Given the description of an element on the screen output the (x, y) to click on. 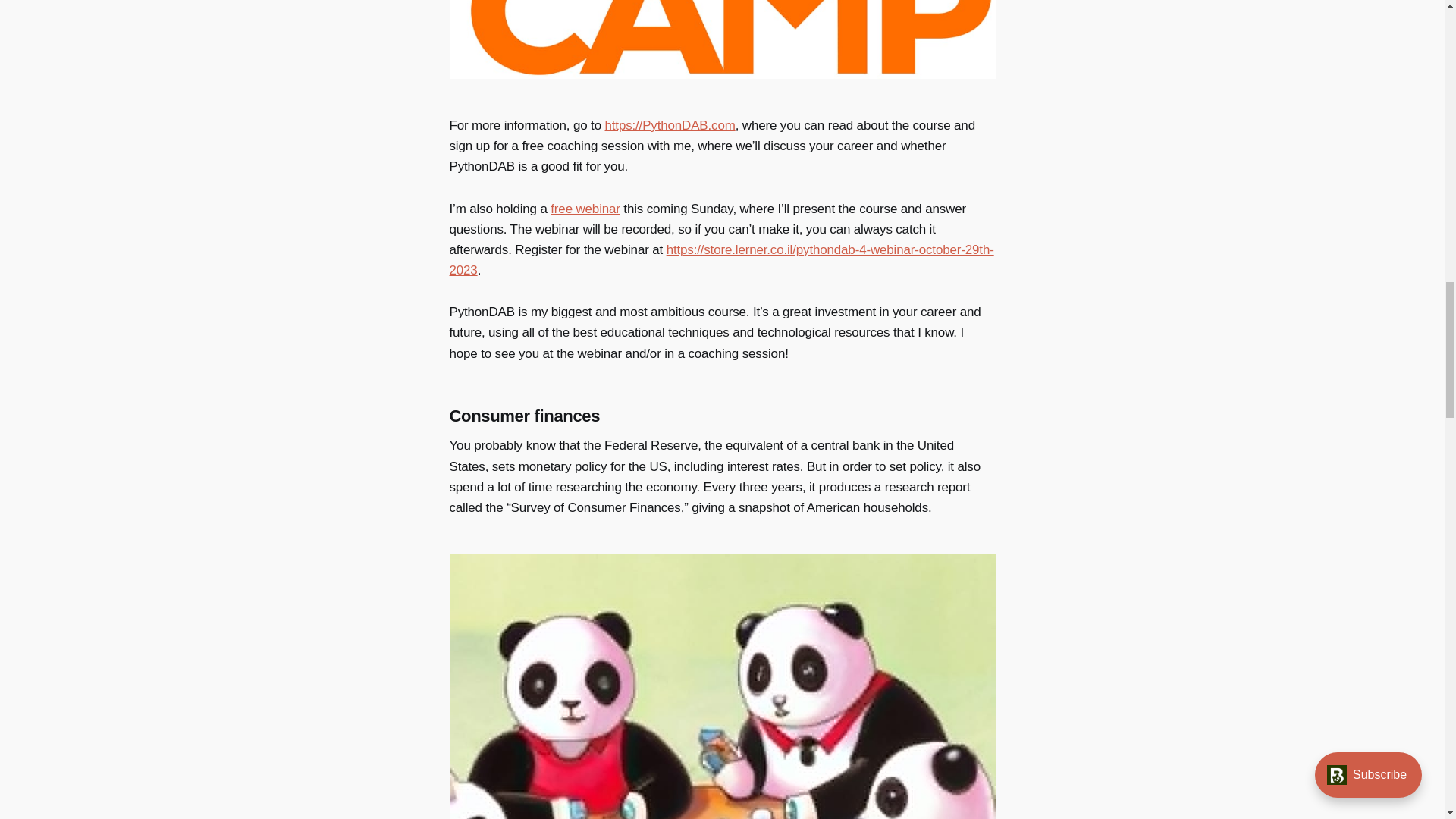
free webinar (585, 208)
